Given the description of an element on the screen output the (x, y) to click on. 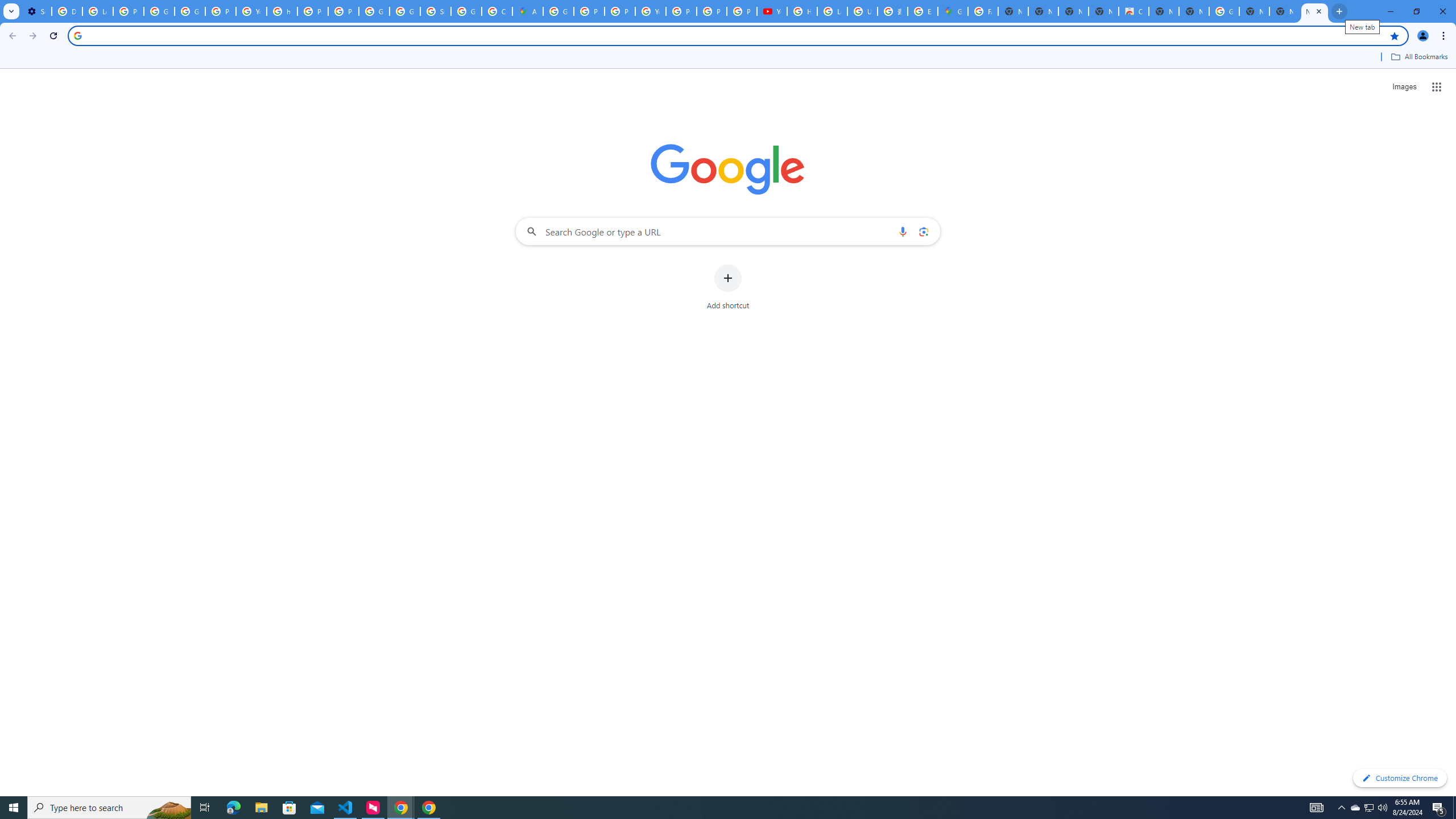
New Tab (1314, 11)
System (6, 6)
Privacy Help Center - Policies Help (312, 11)
